Given the description of an element on the screen output the (x, y) to click on. 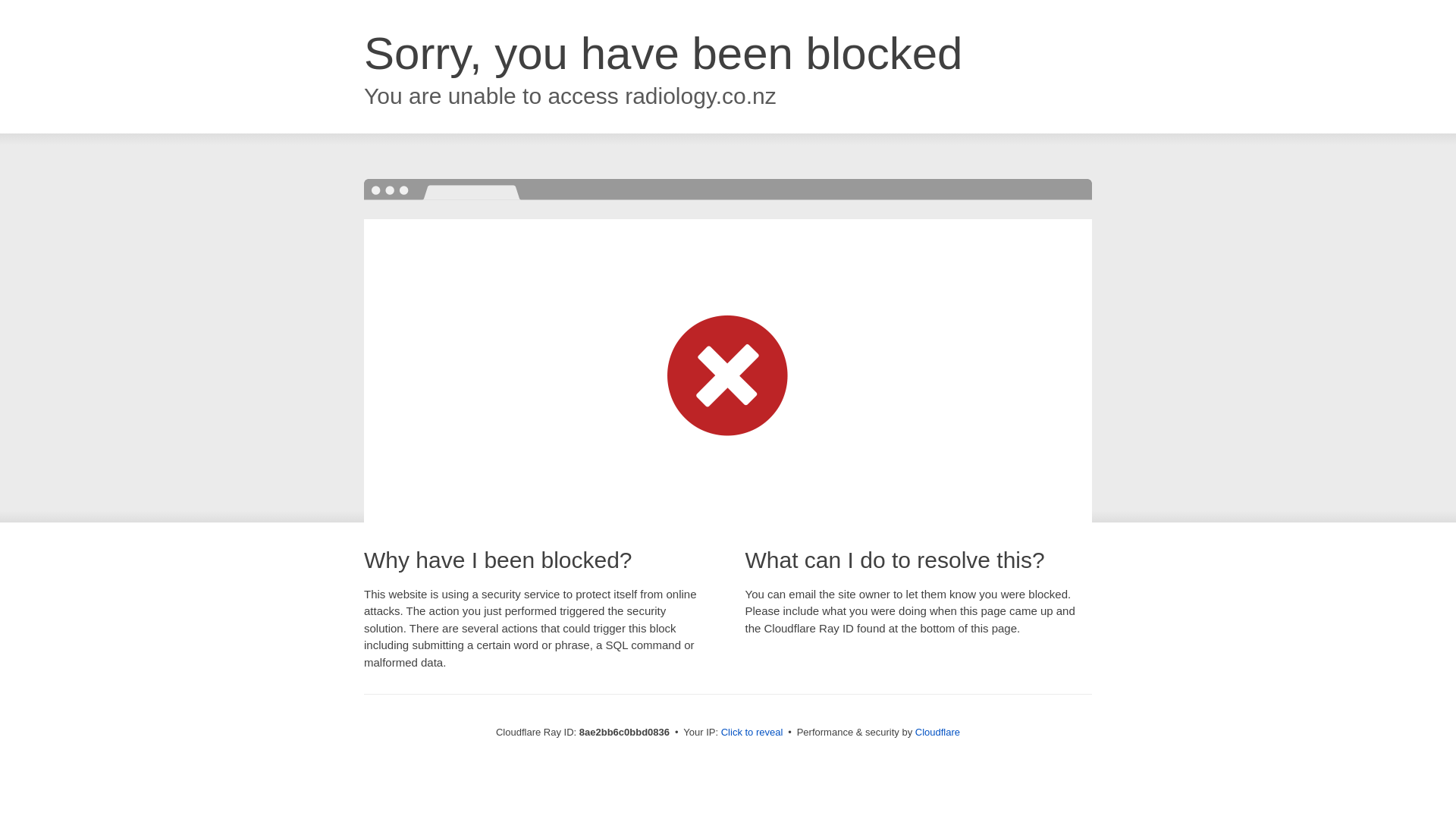
Cloudflare (937, 731)
Click to reveal (751, 732)
